Given the description of an element on the screen output the (x, y) to click on. 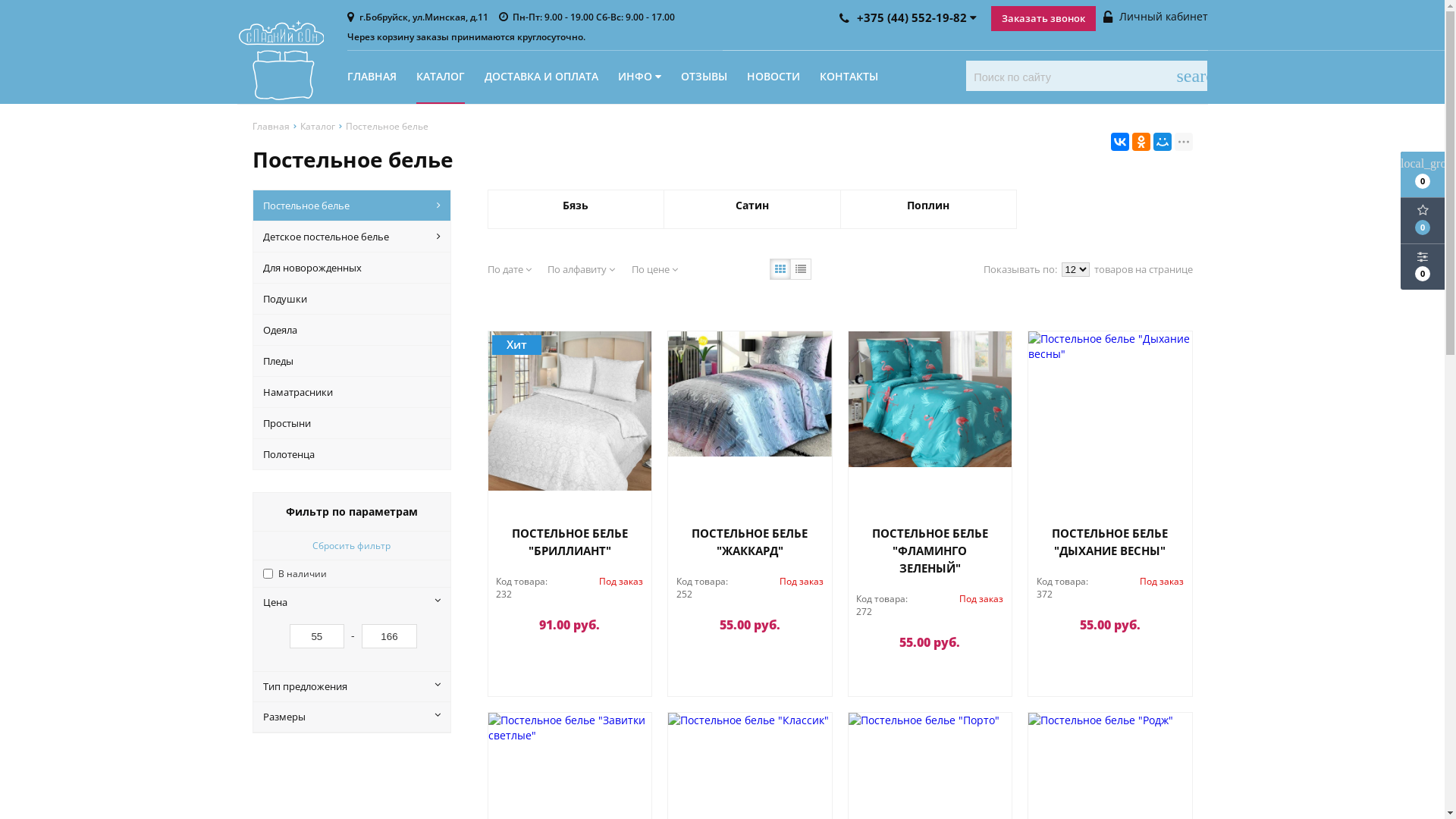
local_grocery_store
0 Element type: text (1422, 174)
search Element type: text (1191, 75)
0 Element type: text (1422, 220)
+375 (44) 552-19-82 Element type: text (908, 17)
0 Element type: text (1422, 266)
